Given the description of an element on the screen output the (x, y) to click on. 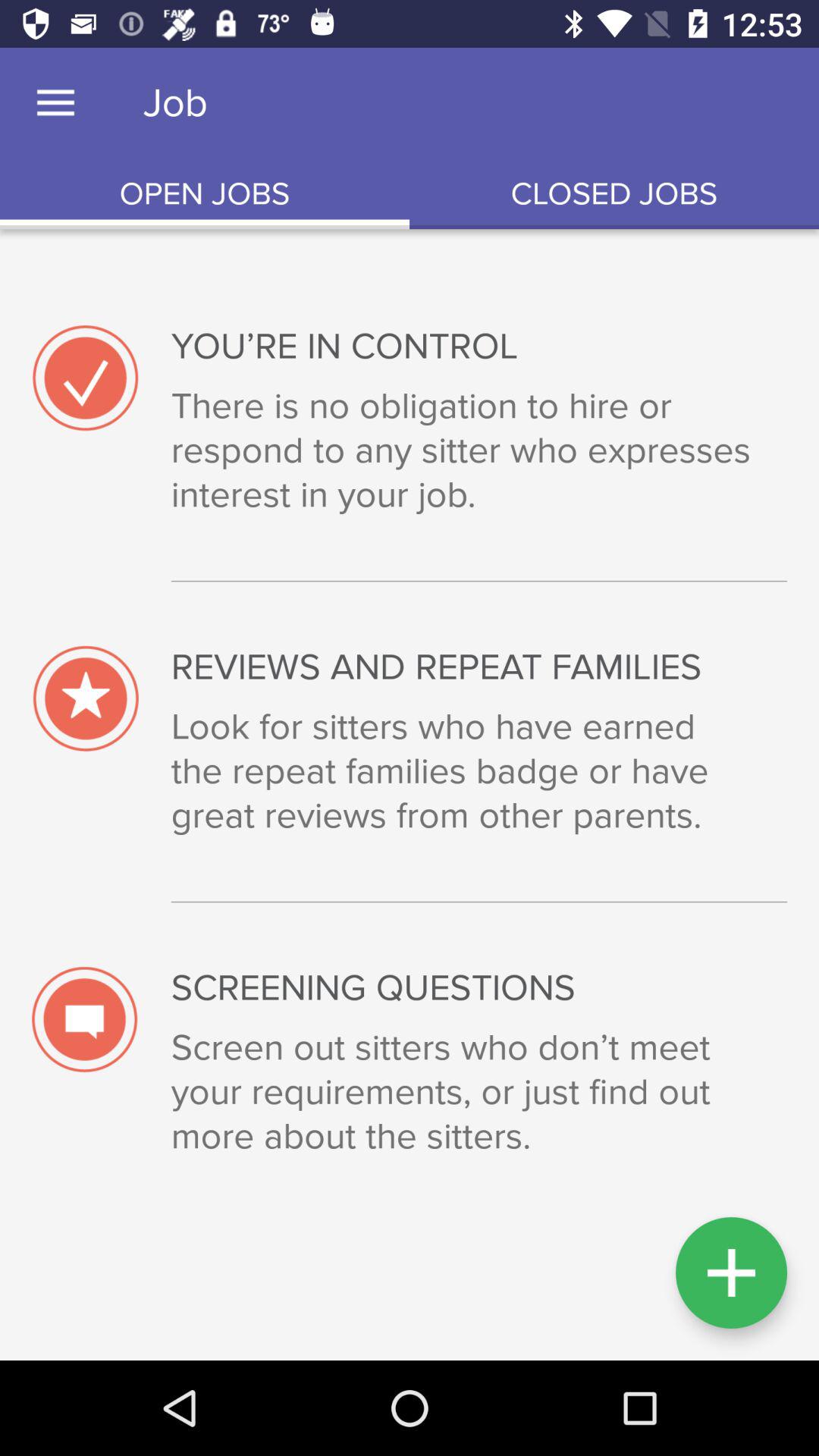
jump to closed jobs item (614, 194)
